Given the description of an element on the screen output the (x, y) to click on. 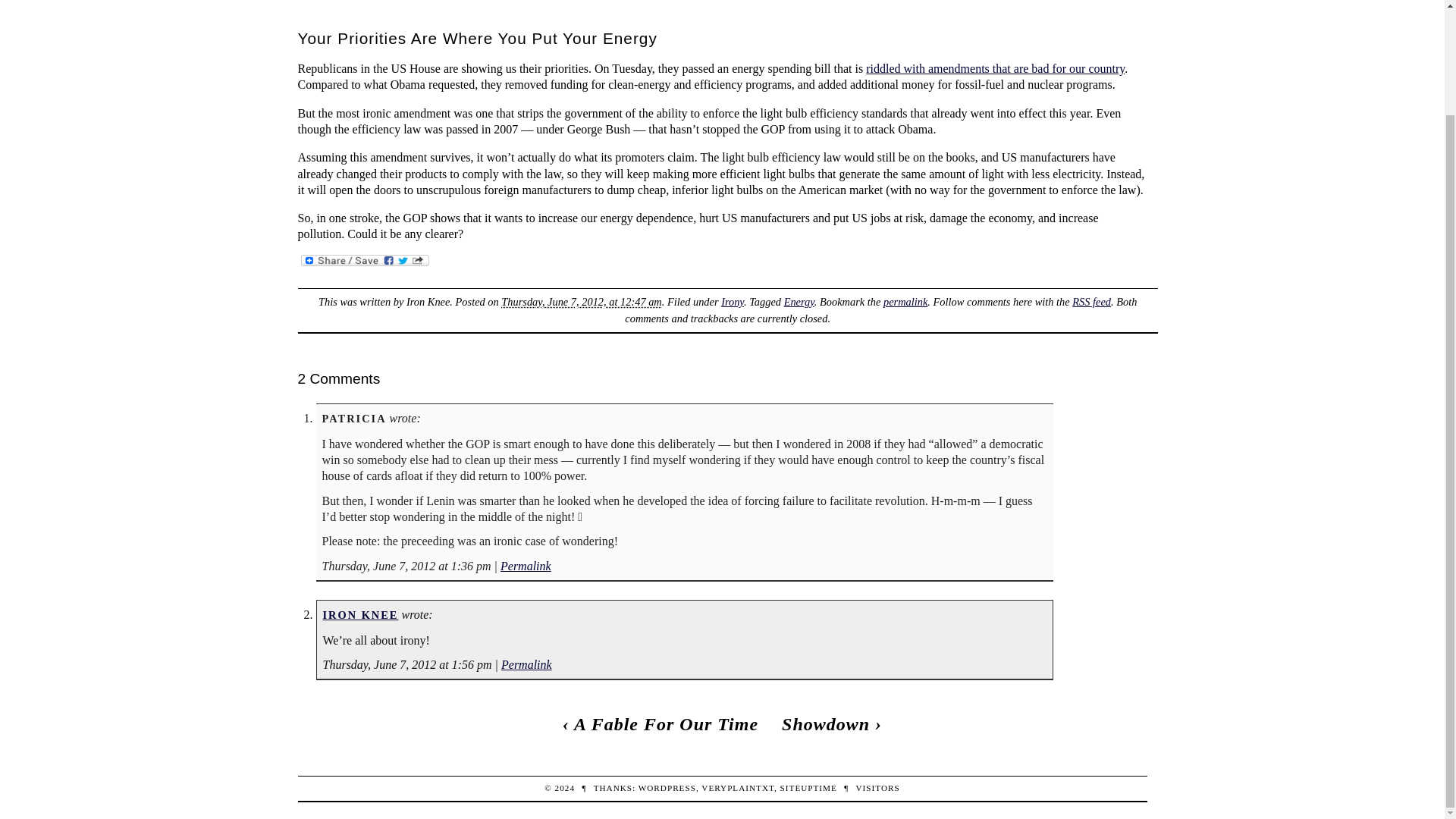
RSS feed (1090, 301)
Permalink (525, 565)
Permalink to this comment (525, 664)
IRON KNEE (360, 614)
Permalink (525, 664)
Irony (732, 301)
Showdown (825, 723)
Permalink to Your Priorities Are Where You Put Your Energy (905, 301)
riddled with amendments that are bad for our country (995, 68)
Energy (798, 301)
A Fable For Our Time (665, 723)
Permalink to this comment (525, 565)
permalink (905, 301)
2012-06-07T00:47:02-0600 (580, 301)
